Given the description of an element on the screen output the (x, y) to click on. 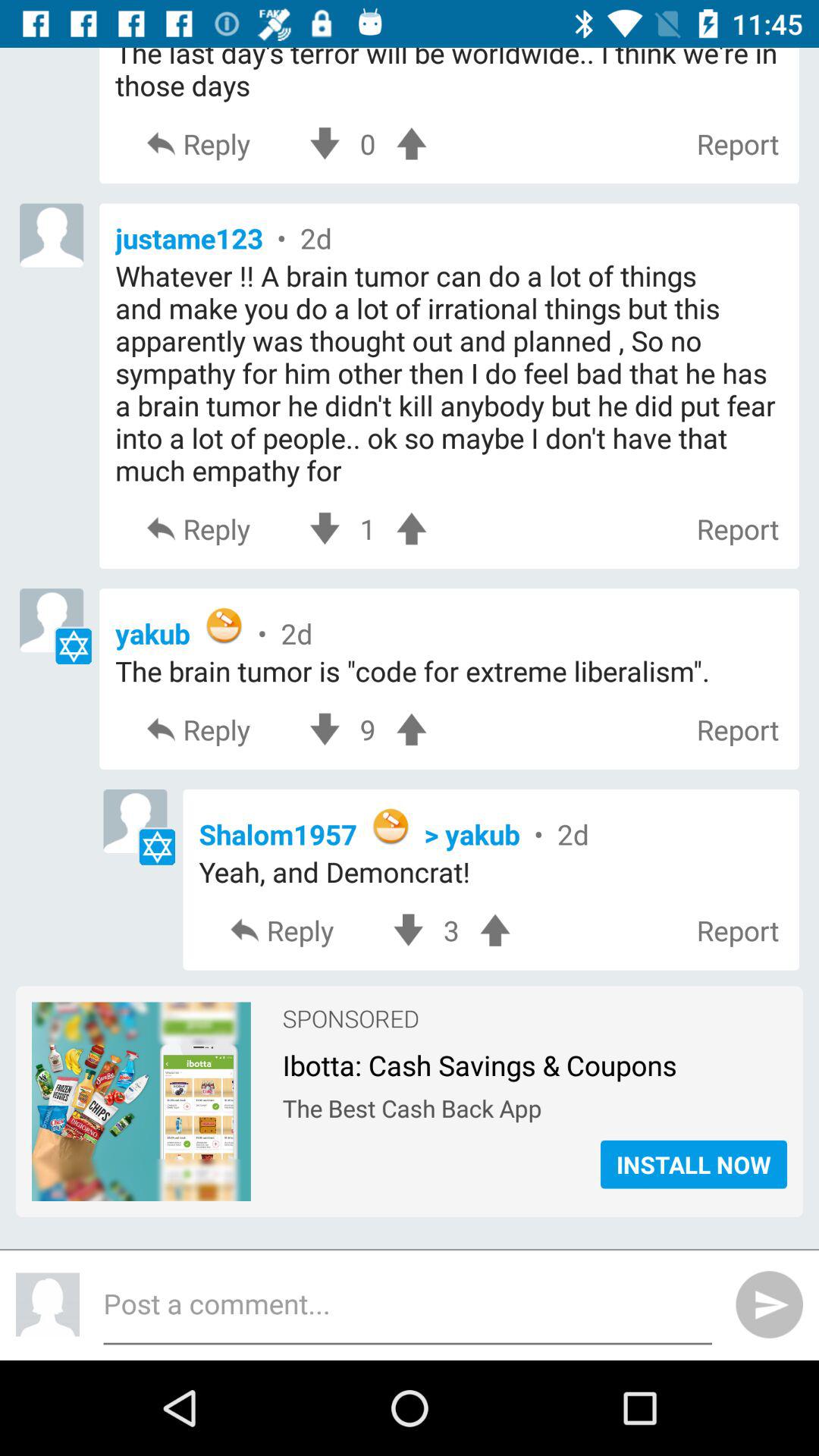
tap the 3 icon (451, 930)
